Given the description of an element on the screen output the (x, y) to click on. 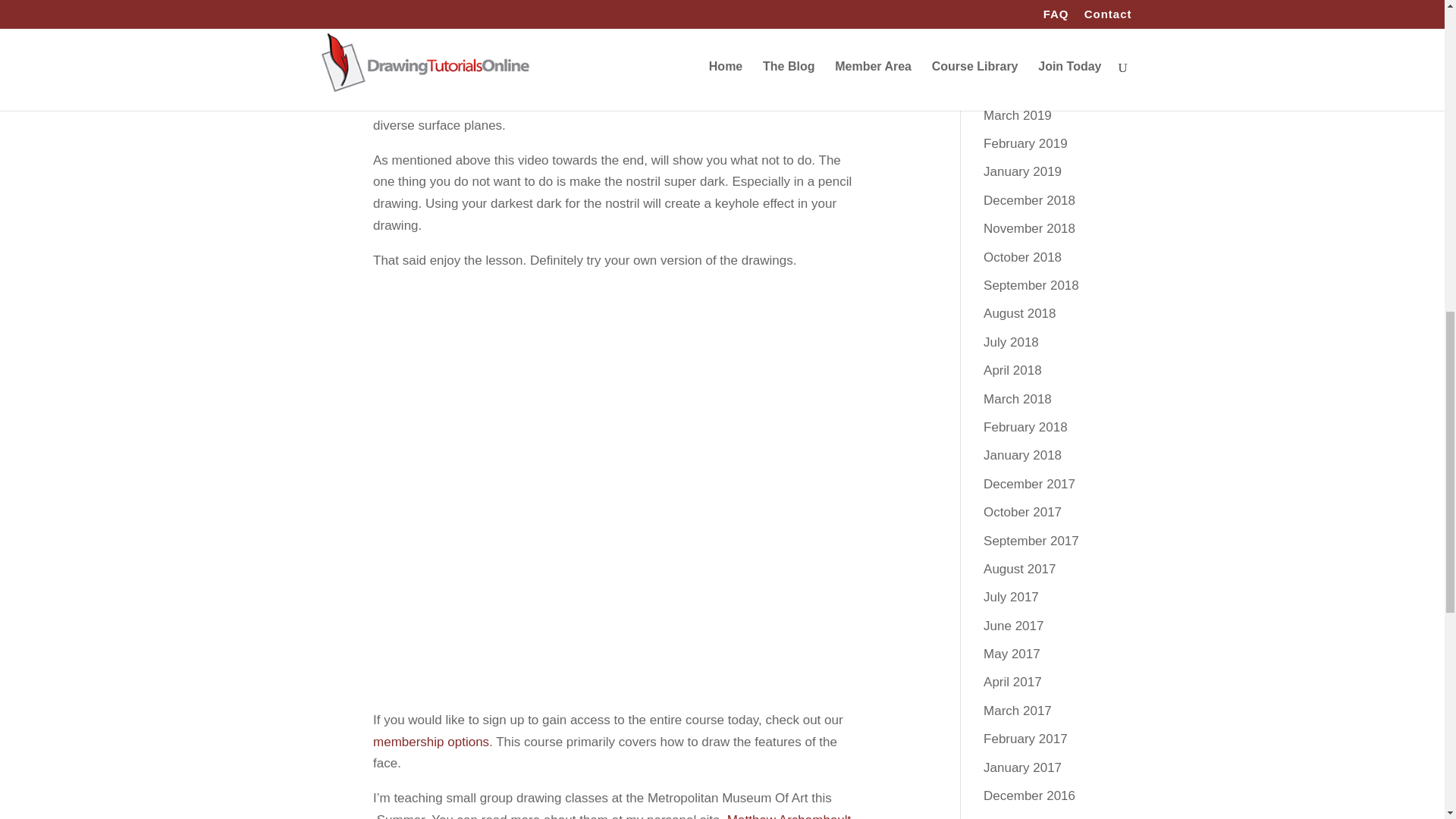
membership options (430, 741)
How To Draw The Structure Of The Nose (614, 524)
Matthew Archambault (788, 816)
